Given the description of an element on the screen output the (x, y) to click on. 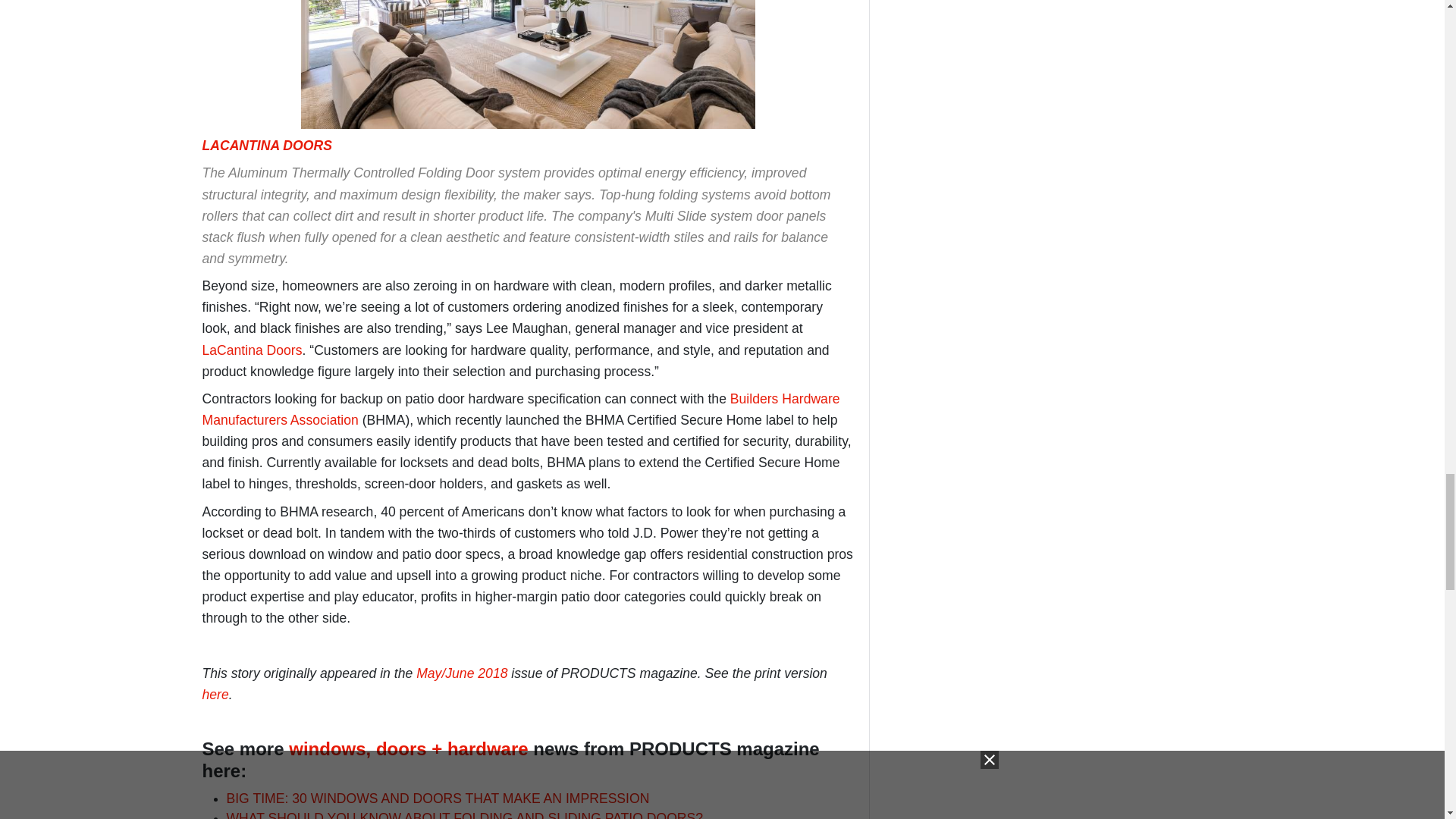
true (1130, 82)
